Given the description of an element on the screen output the (x, y) to click on. 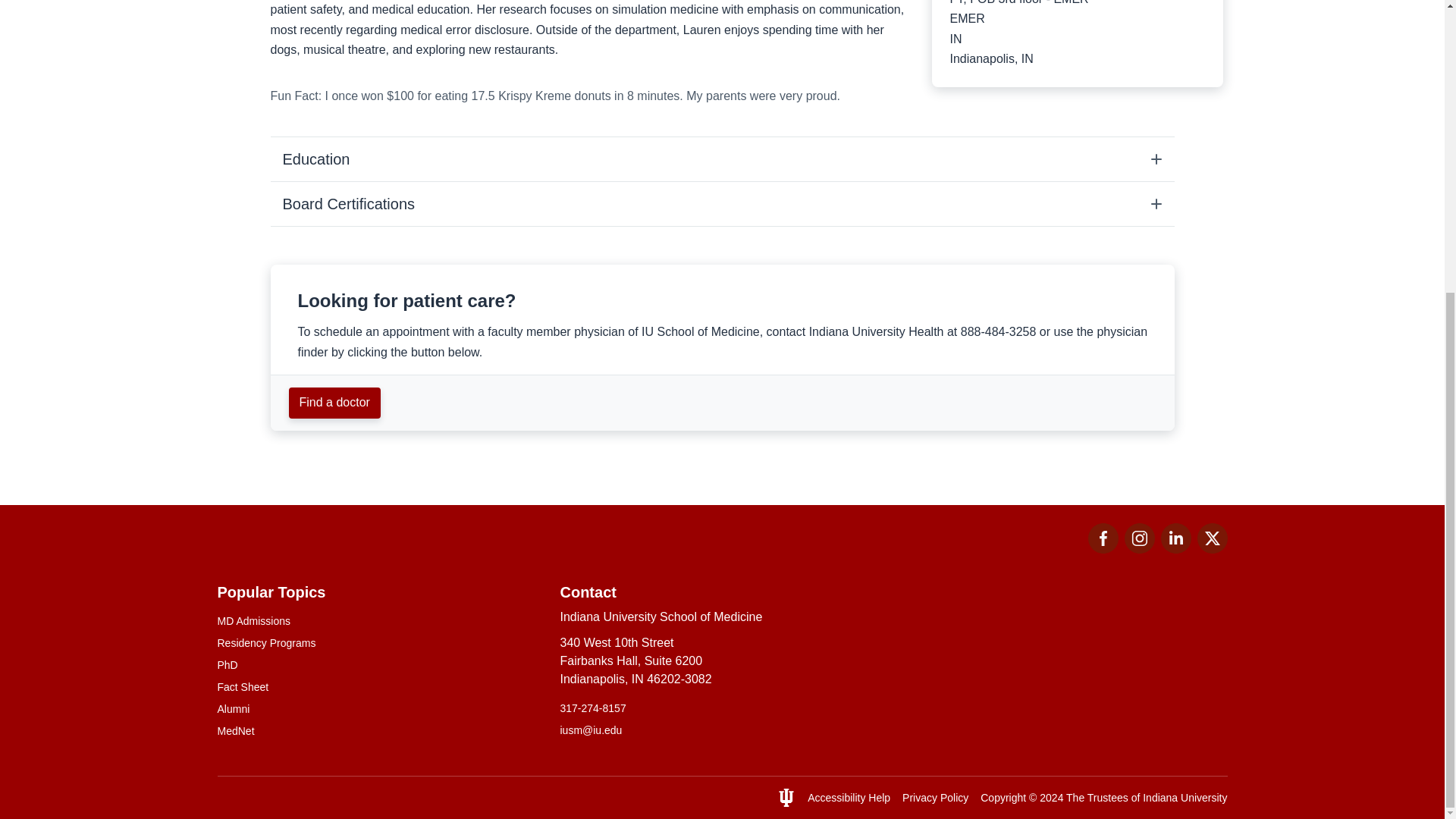
MedNet (378, 731)
Find a doctor (334, 403)
Fact Sheet (378, 687)
Accessibility Help (848, 797)
Alumni (378, 709)
MD Admissions (378, 621)
Indiana University (1184, 797)
Education (721, 158)
Copyright (1002, 797)
Instagram (1139, 538)
Privacy Policy (935, 797)
Privacy Policy (935, 797)
Board Certifications (1175, 549)
Twitter (721, 203)
